Given the description of an element on the screen output the (x, y) to click on. 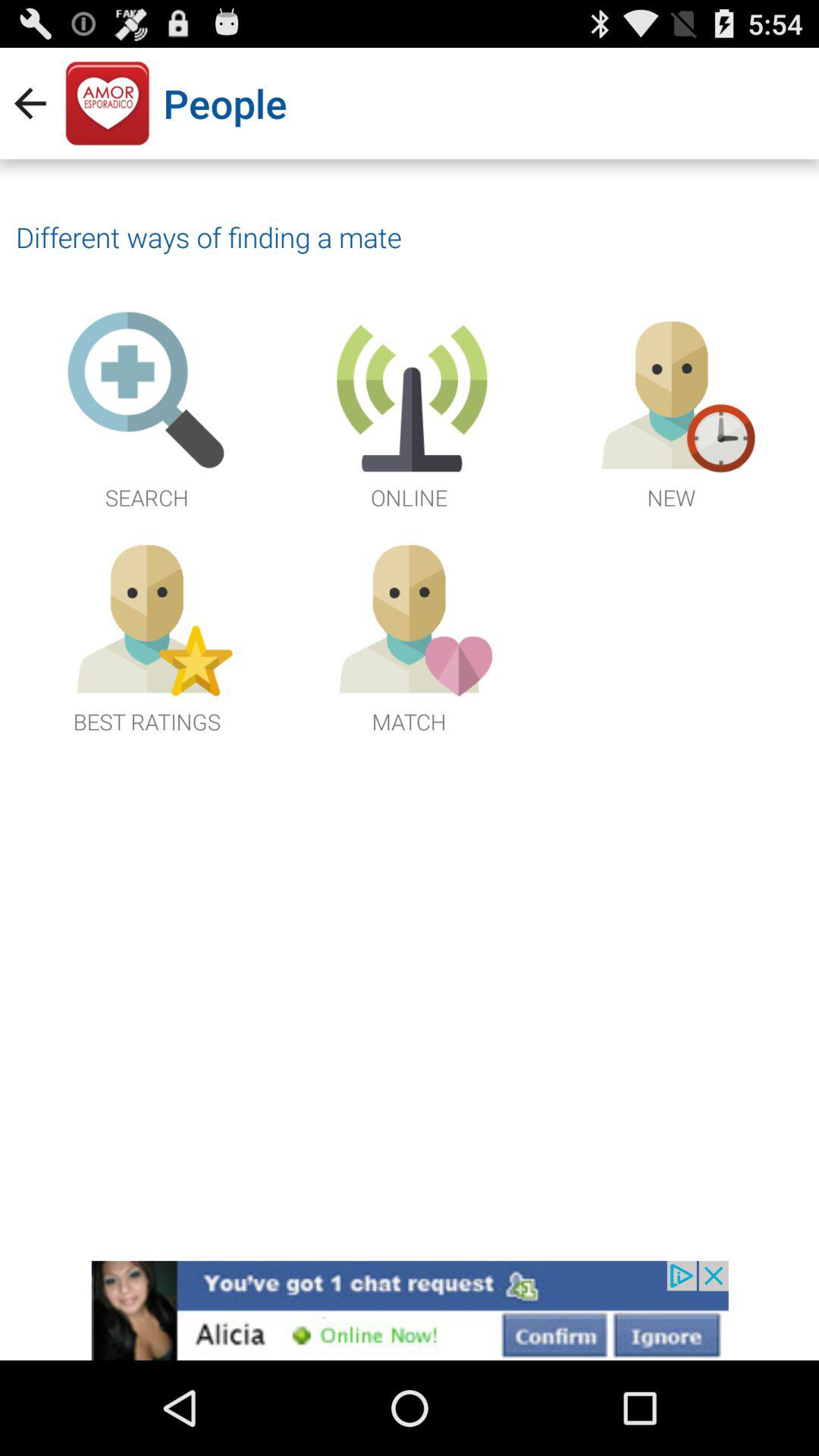
view match (409, 634)
